Given the description of an element on the screen output the (x, y) to click on. 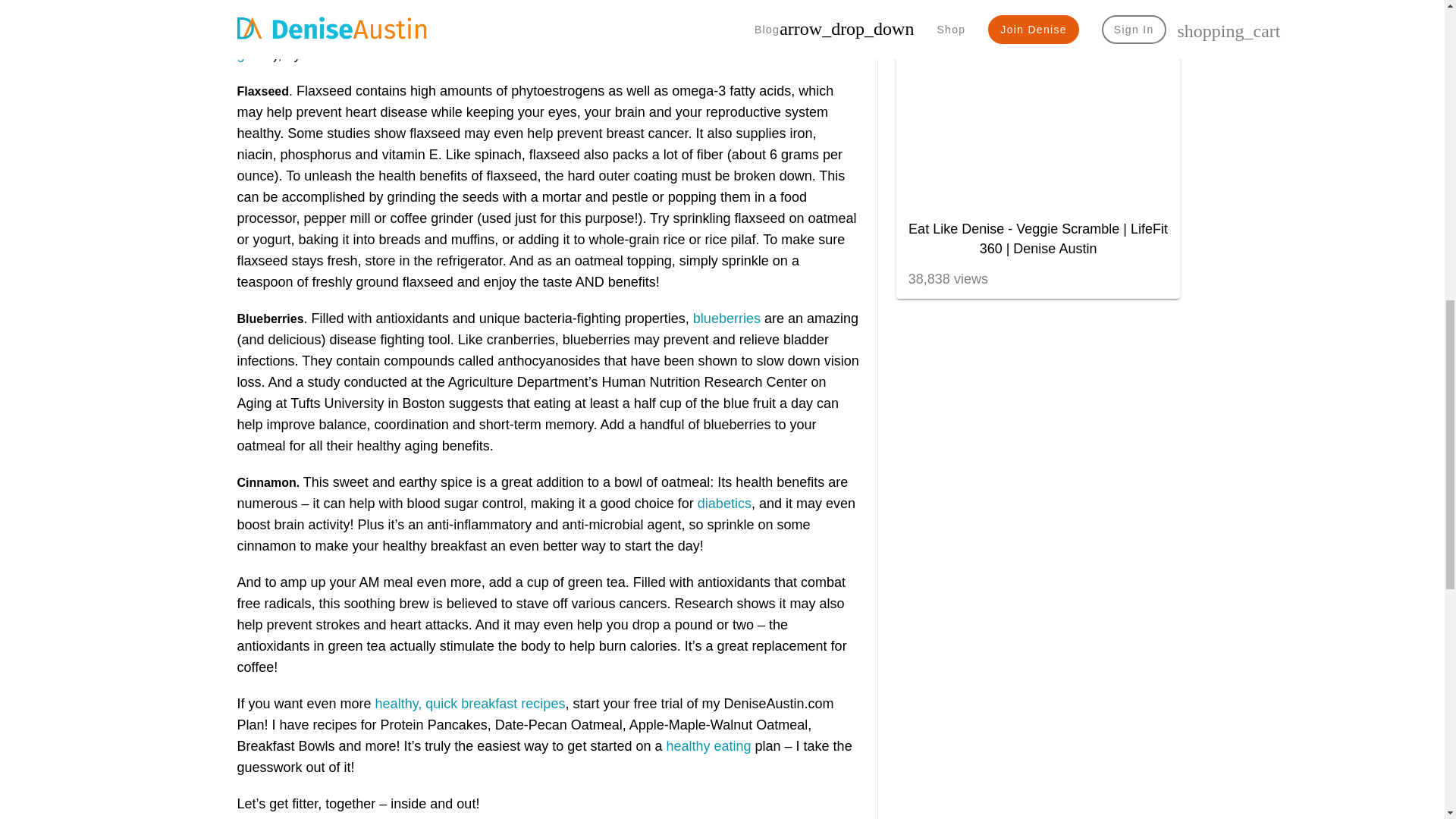
diabetics (724, 503)
healthy eating goals (540, 43)
customizable meal plan (418, 11)
blueberries (726, 318)
healthy, quick breakfast recipes (470, 703)
healthy eating (708, 745)
